Given the description of an element on the screen output the (x, y) to click on. 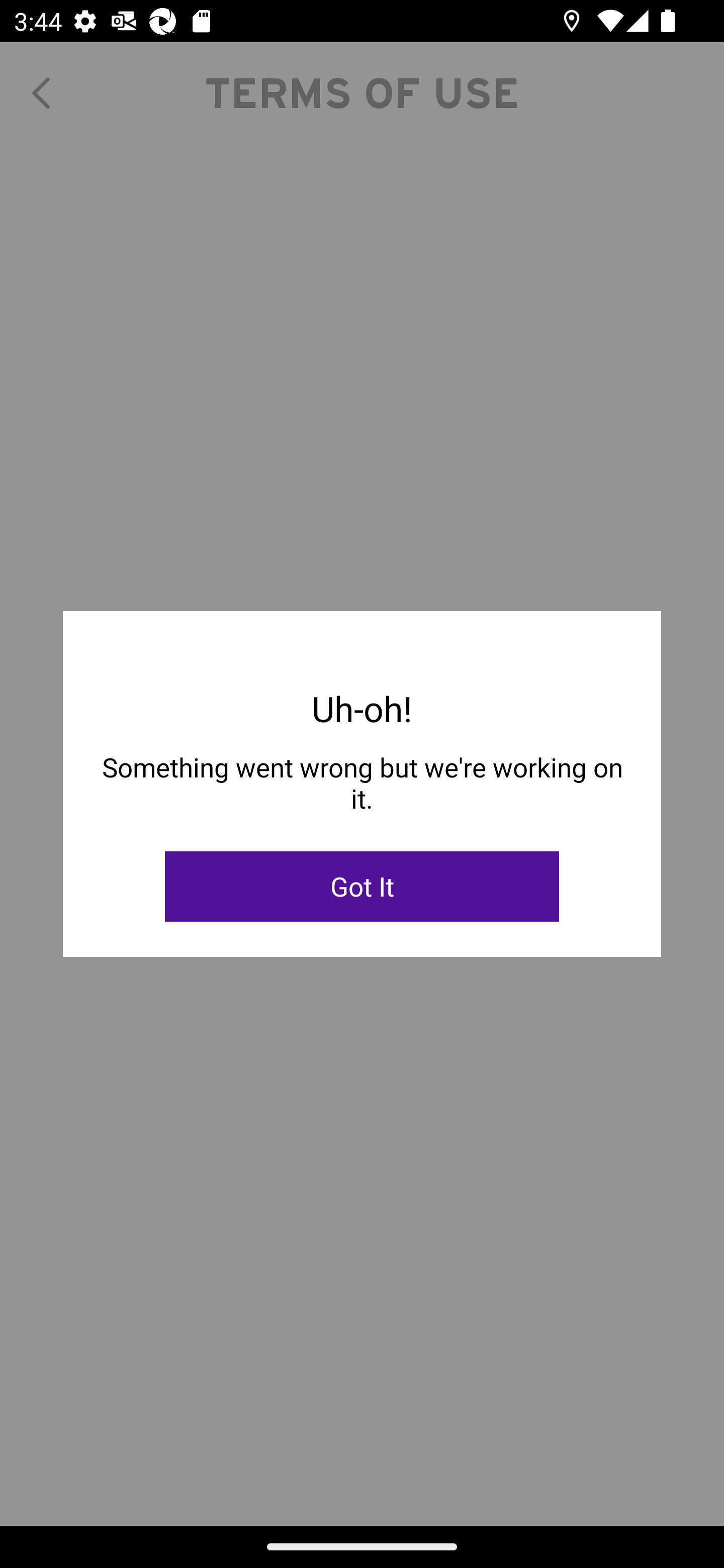
Got It (361, 886)
